Given the description of an element on the screen output the (x, y) to click on. 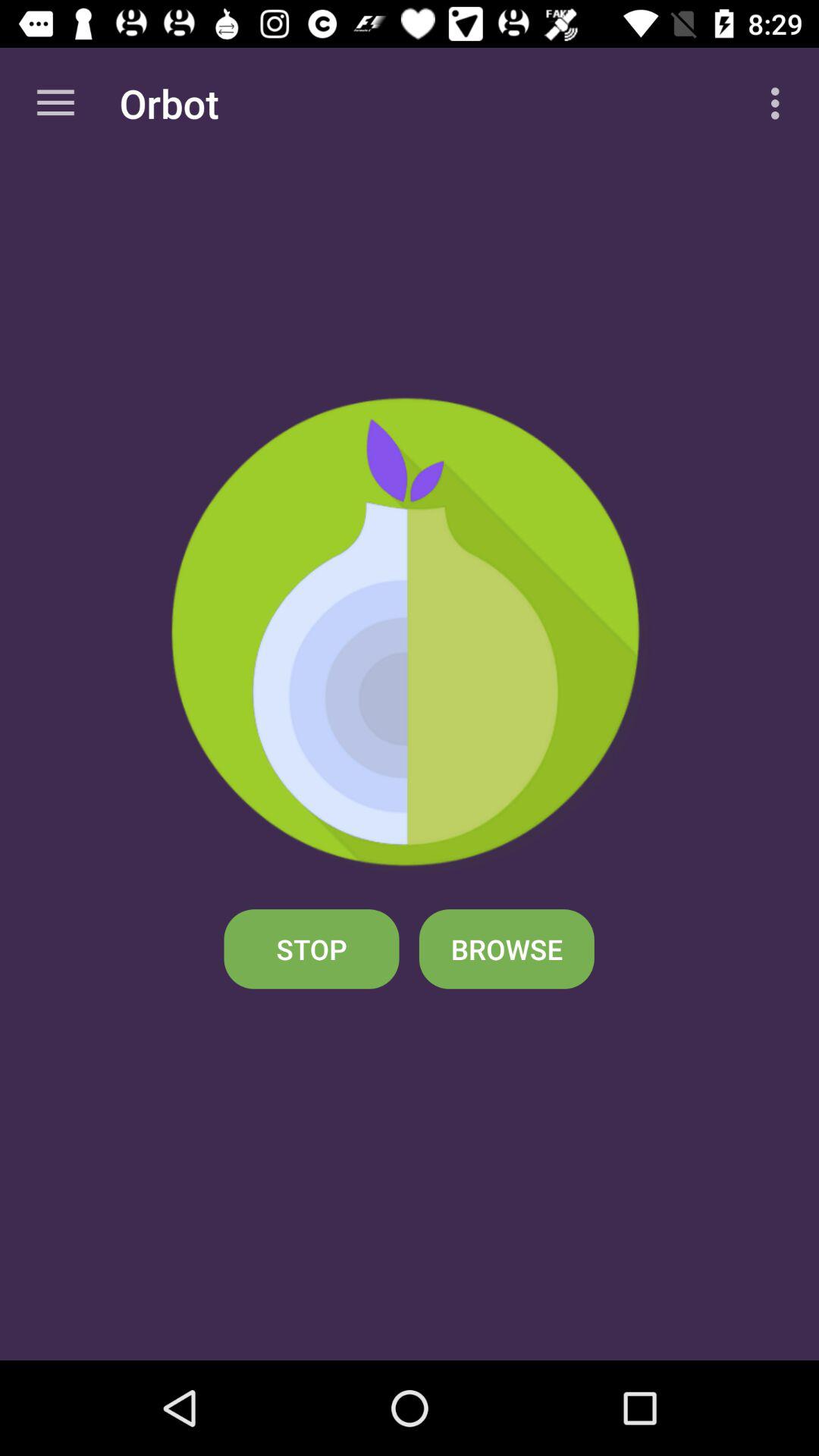
select the icon to the right of stop icon (506, 949)
